Given the description of an element on the screen output the (x, y) to click on. 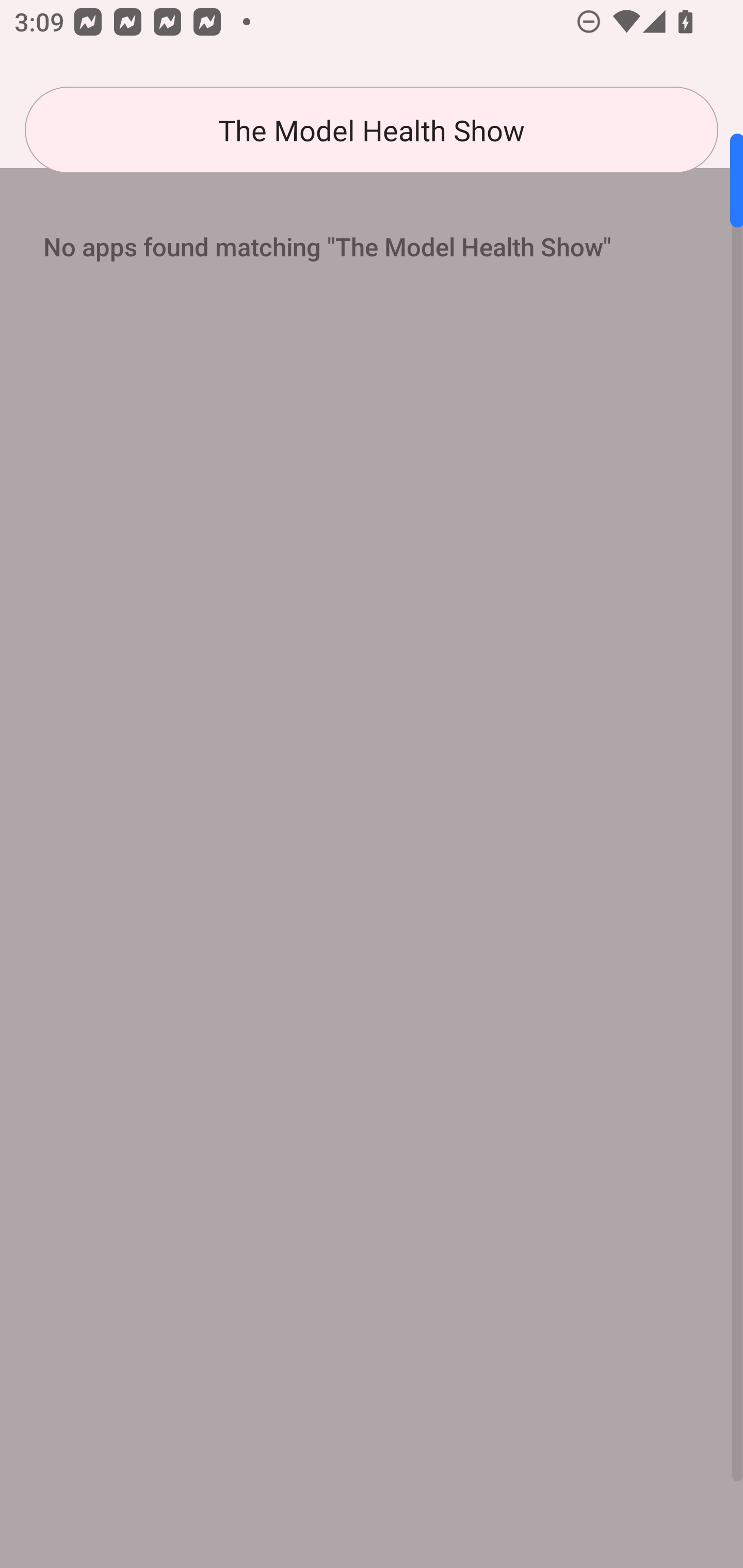
The Model Health Show (371, 130)
